Given the description of an element on the screen output the (x, y) to click on. 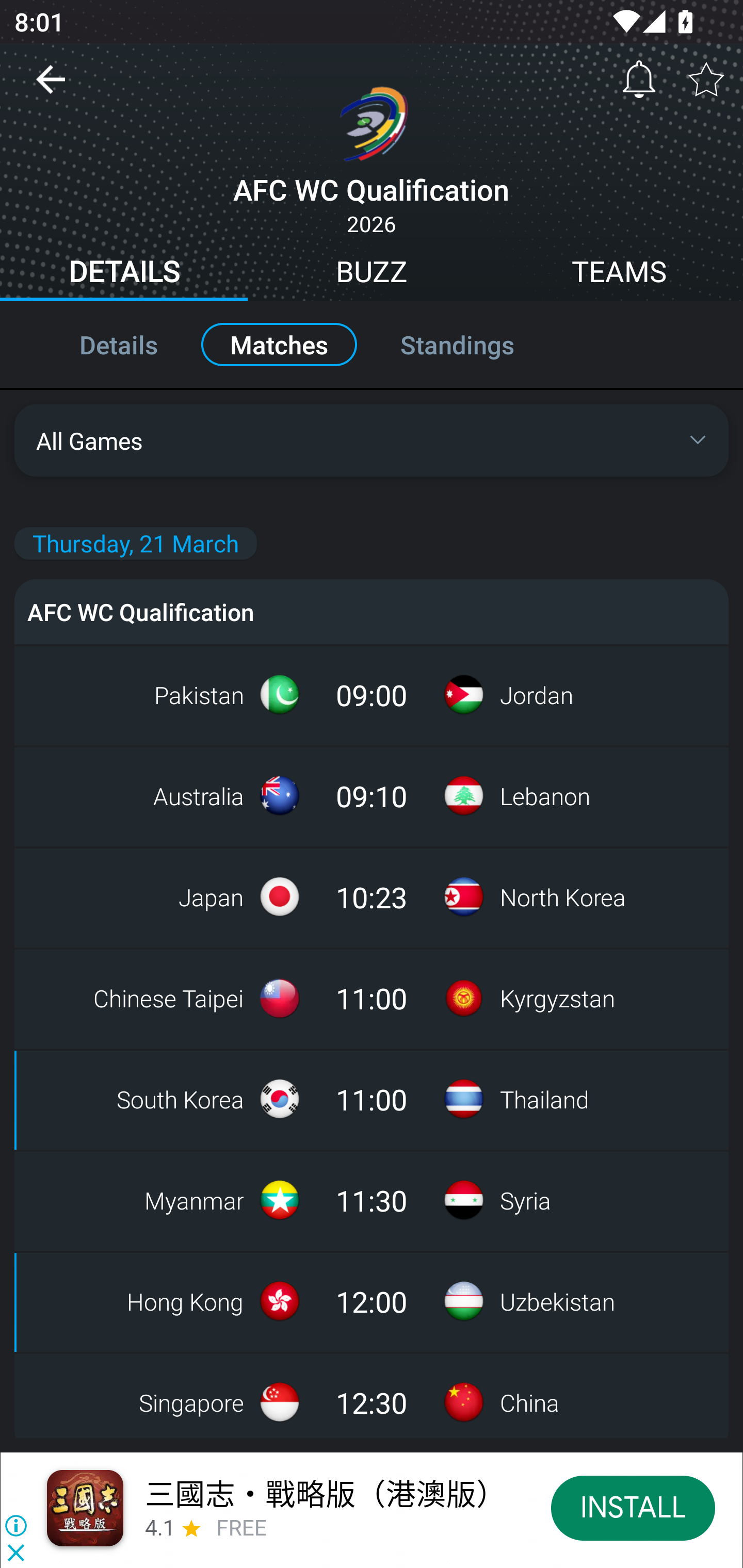
Navigate up (50, 86)
DETAILS (123, 274)
BUZZ (371, 274)
TEAMS (619, 274)
Details (96, 344)
Standings (478, 344)
All Games (371, 440)
AFC WC Qualification (371, 611)
Pakistan 09:00 Jordan (371, 694)
Australia 09:10 Lebanon (371, 795)
Japan 10:23 North Korea (371, 896)
Chinese Taipei 11:00 Kyrgyzstan (371, 997)
South Korea 11:00 Thailand (371, 1098)
Myanmar 11:30 Syria (371, 1200)
Hong Kong 12:00 Uzbekistan (371, 1301)
Singapore 12:30 China (371, 1394)
三國志・戰略版（港澳版） (324, 1493)
INSTALL (632, 1507)
